Given the description of an element on the screen output the (x, y) to click on. 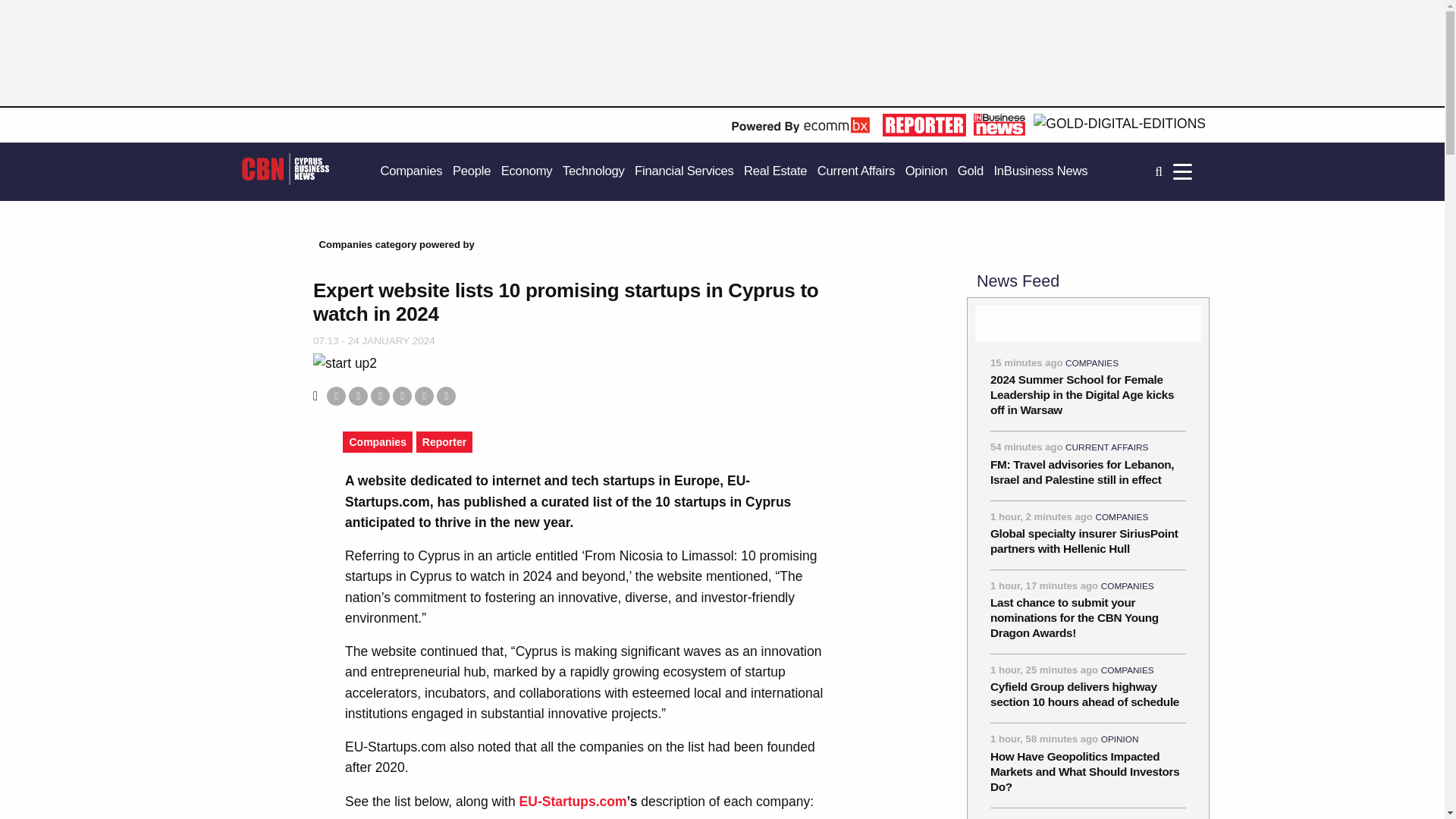
Gold (970, 171)
InBusiness News (1040, 171)
Opinion (926, 171)
Companies (411, 171)
start up2 (345, 362)
Current Affairs (855, 171)
People (471, 171)
Technology (593, 171)
Economy (526, 171)
Real Estate (775, 171)
Financial Services (684, 171)
